Given the description of an element on the screen output the (x, y) to click on. 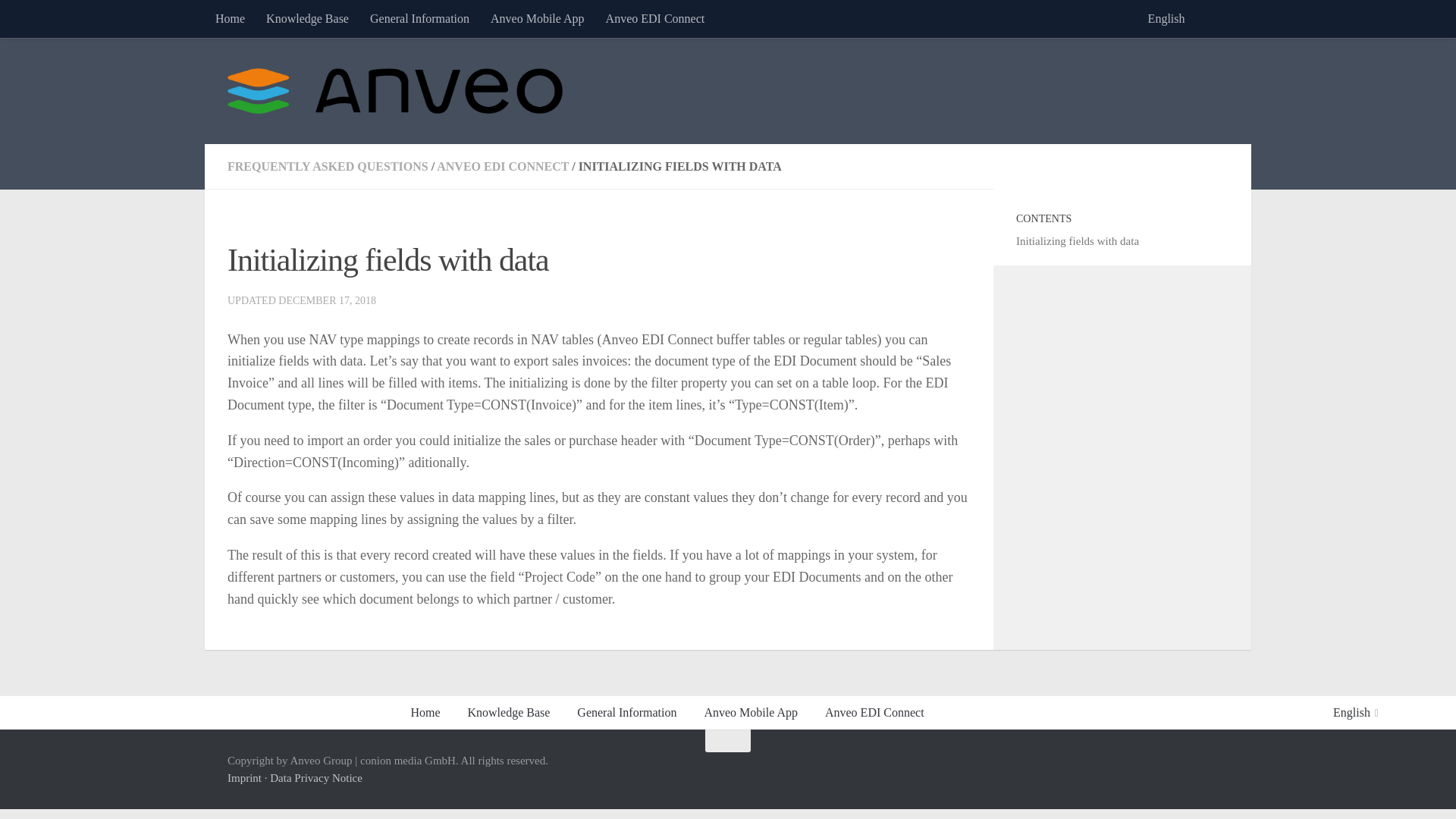
General Information (419, 18)
English (1169, 18)
FREQUENTLY ASKED QUESTIONS (327, 165)
Anveo Mobile App (537, 18)
Anveo Mobile App (750, 712)
Skip to content (59, 20)
ANVEO EDI CONNECT (502, 165)
Anveo EDI Connect (655, 18)
General Information (626, 712)
English (1169, 18)
